Given the description of an element on the screen output the (x, y) to click on. 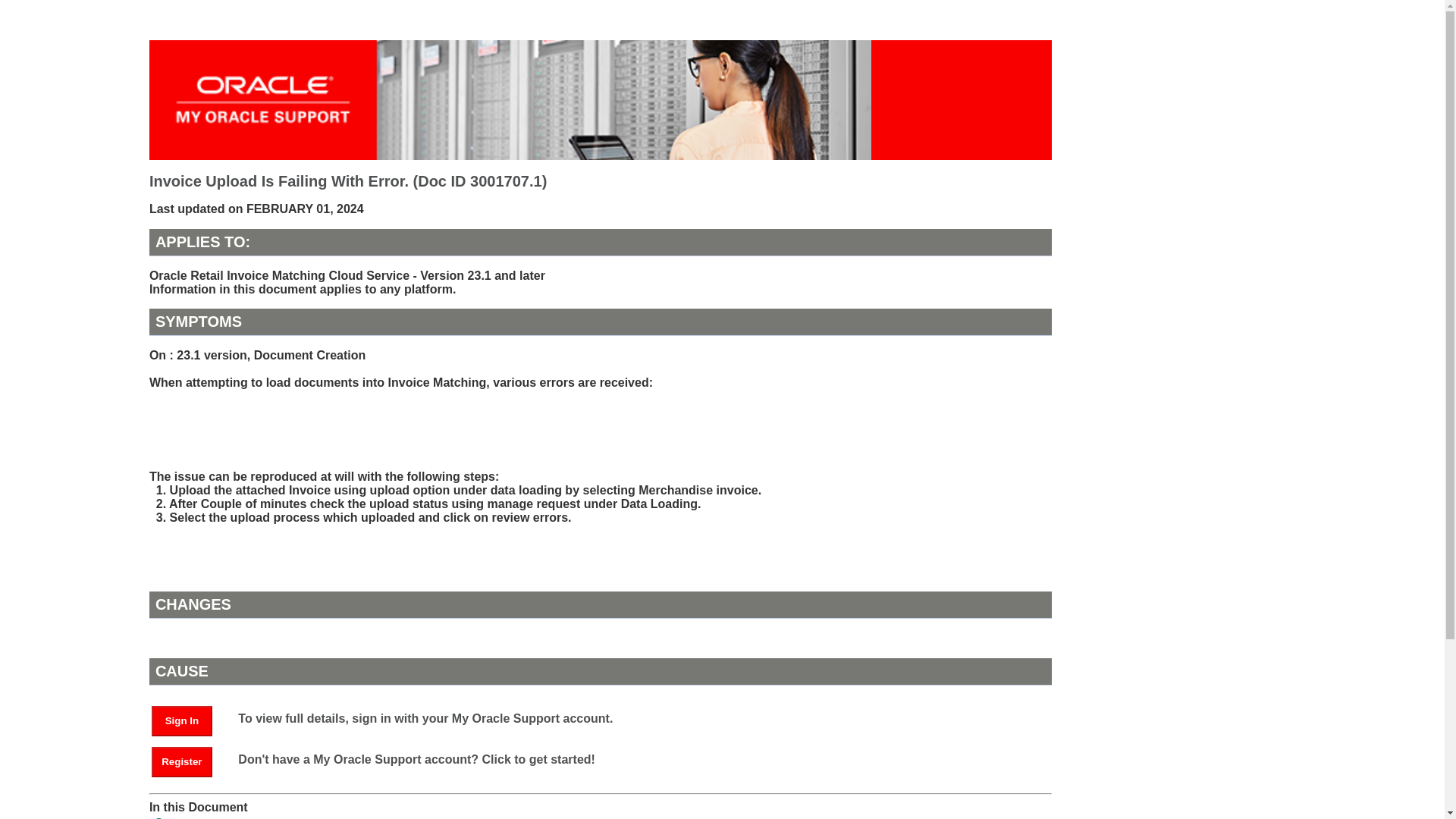
Register (181, 761)
Sign In (189, 719)
Register (189, 760)
Symptoms (185, 817)
Sign In (181, 720)
